Given the description of an element on the screen output the (x, y) to click on. 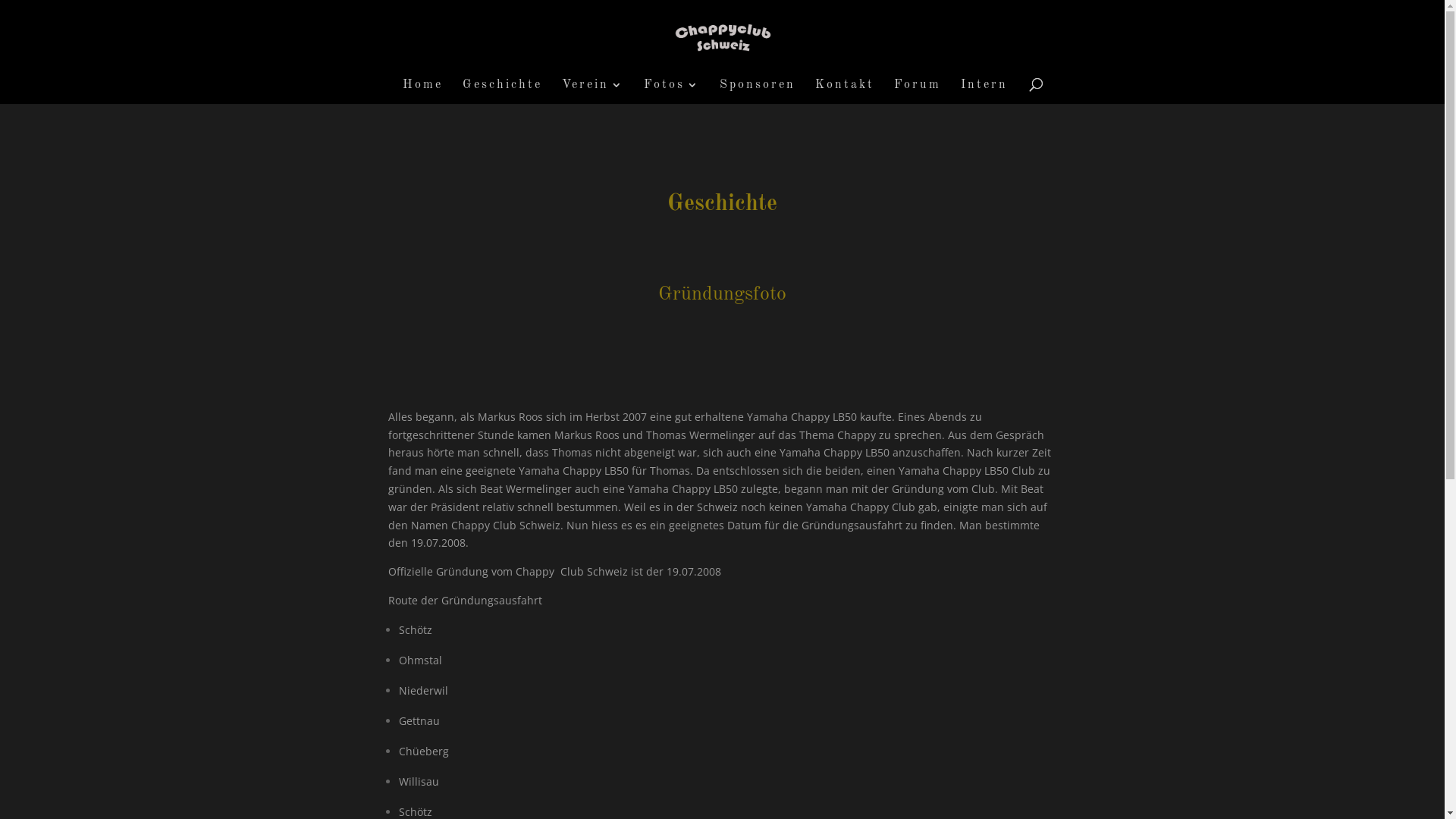
Forum Element type: text (916, 91)
Fotos Element type: text (671, 91)
Verein Element type: text (592, 91)
Intern Element type: text (983, 91)
Websedign By Markus Roos Element type: text (224, 645)
Chappyclub Schweiz - chappyclub.ch Element type: text (241, 797)
Verein Element type: text (475, 691)
Datenschutz Element type: text (186, 622)
Sponsoren Element type: text (756, 91)
Home Element type: text (421, 91)
Geschichte Element type: text (502, 91)
Sponsoren Element type: text (486, 669)
Kontakt Element type: text (478, 645)
Yamaha Chappy LB50 Element type: text (801, 416)
Kontakt Element type: text (843, 91)
Geschichte Element type: text (487, 622)
